Given the description of an element on the screen output the (x, y) to click on. 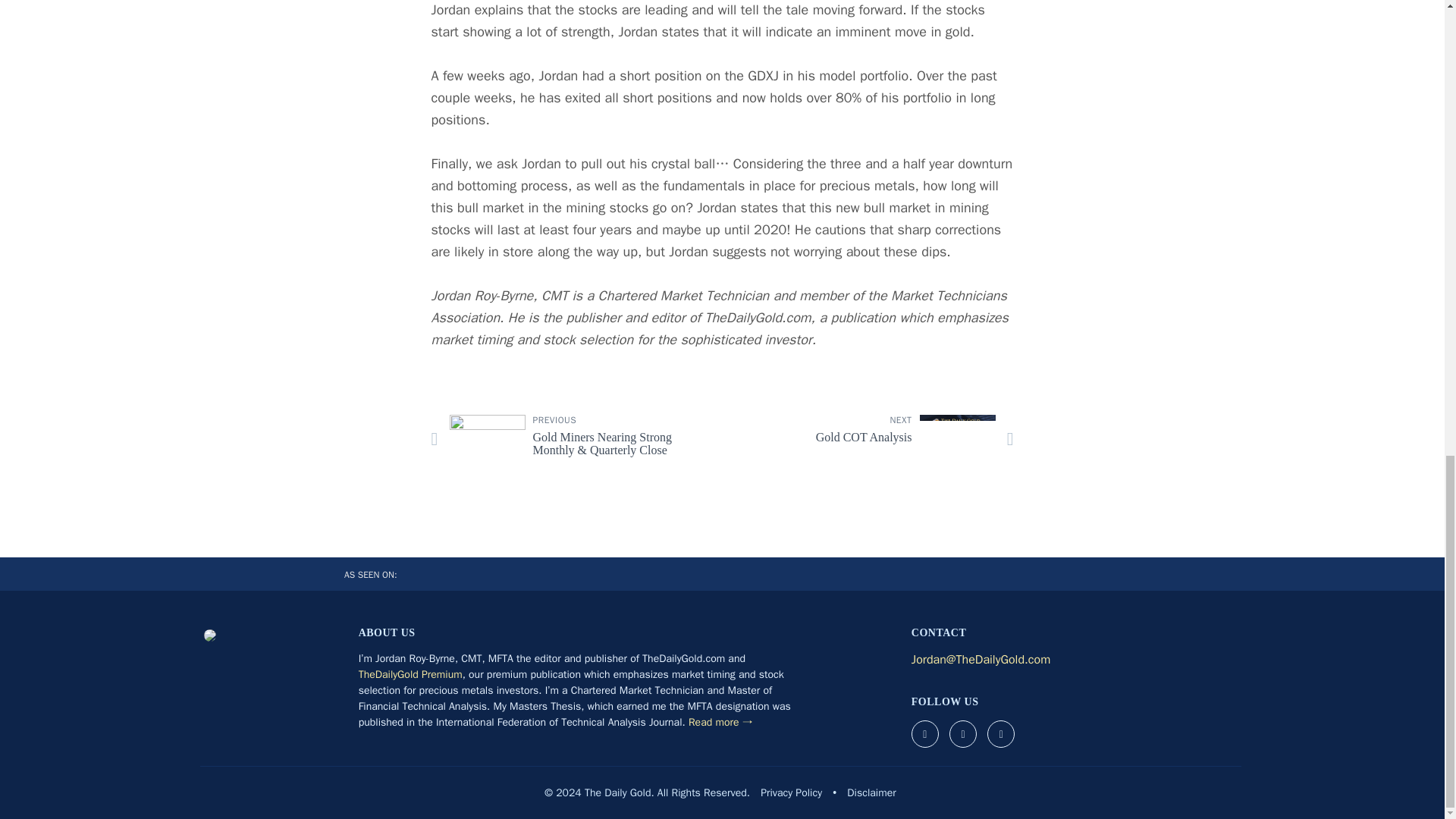
TheDailyGold Premium (410, 674)
Disclaimer (871, 792)
Privacy Policy (873, 438)
